Given the description of an element on the screen output the (x, y) to click on. 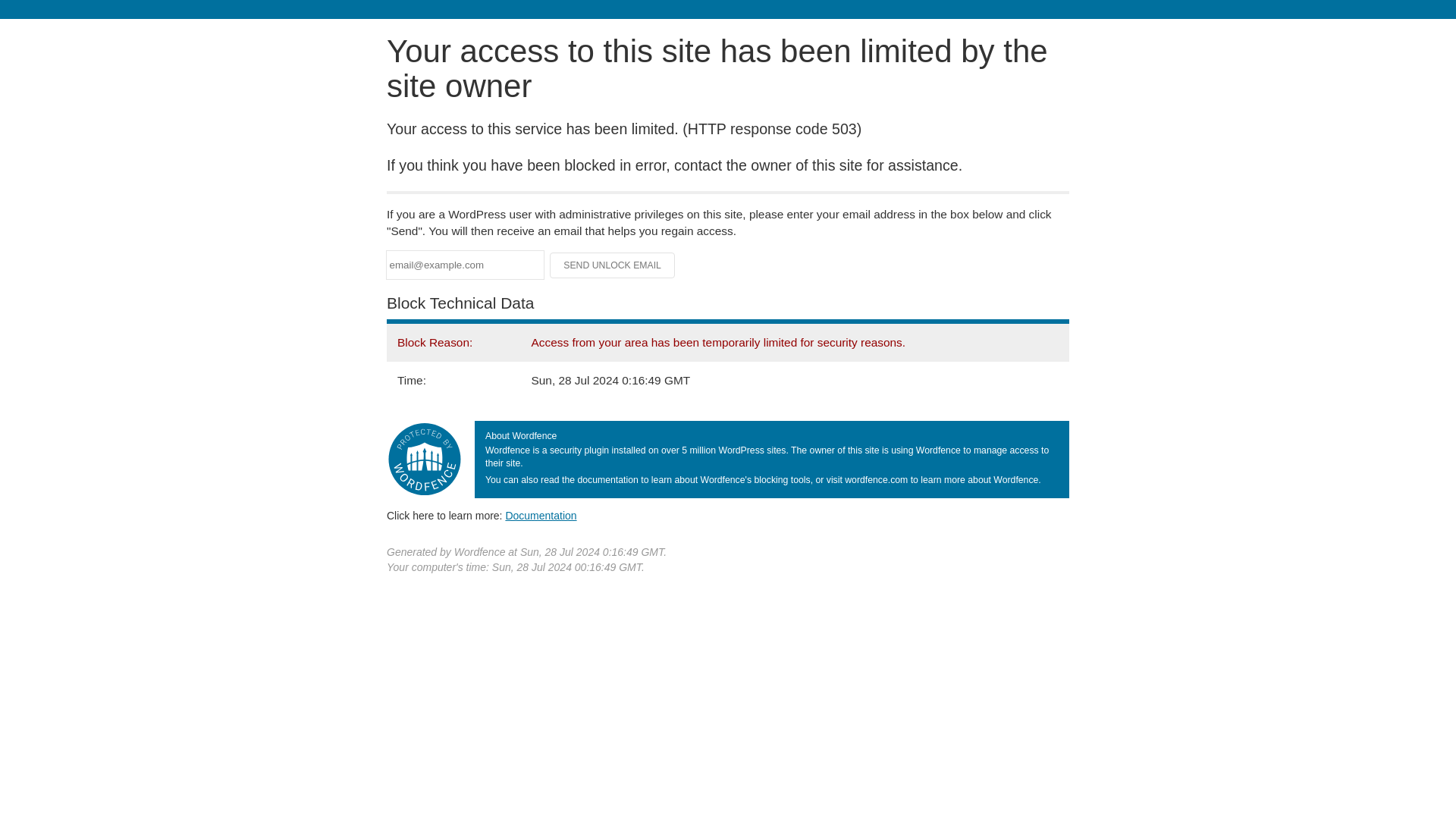
Send Unlock Email (612, 265)
Send Unlock Email (612, 265)
Documentation (540, 515)
